Given the description of an element on the screen output the (x, y) to click on. 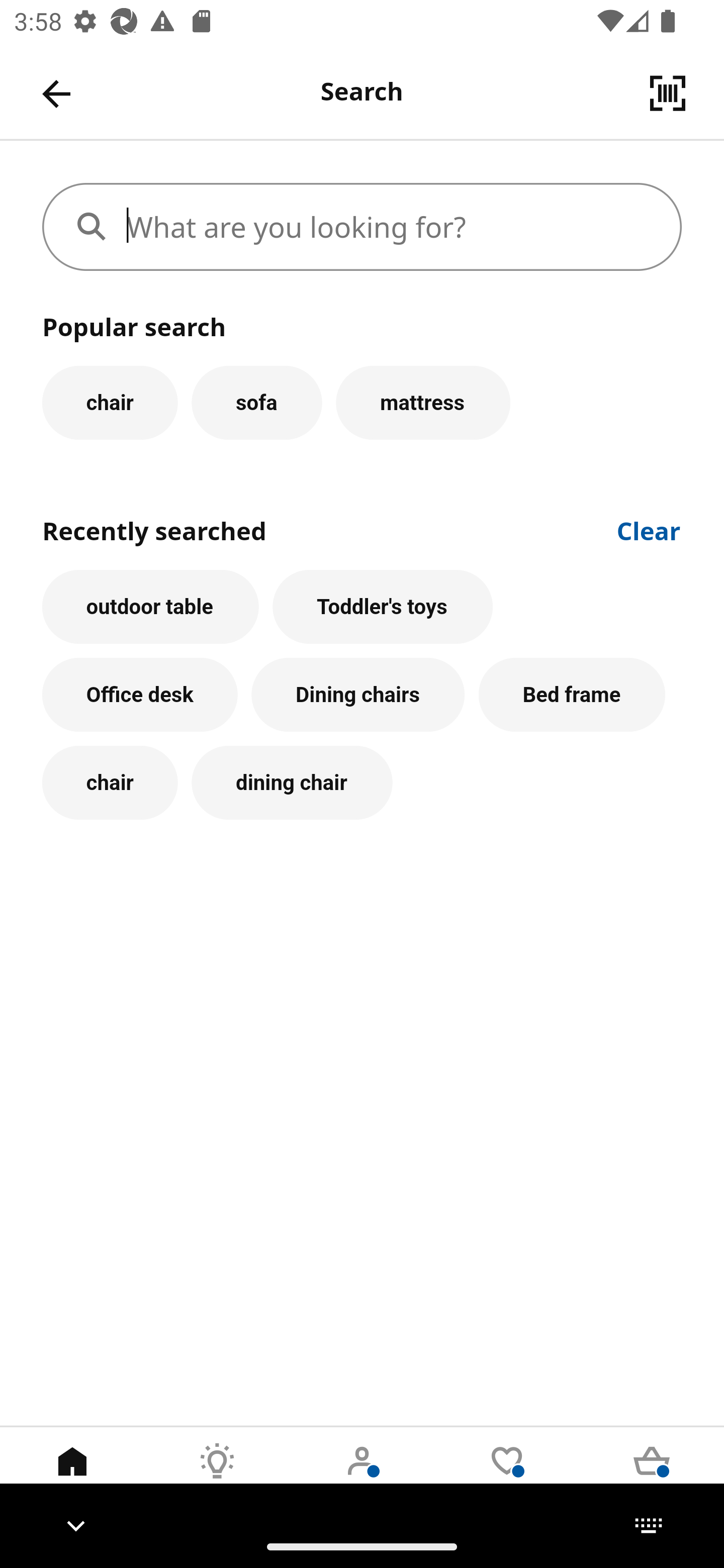
chair (109, 402)
sofa (256, 402)
mattress (423, 402)
Clear (649, 528)
outdoor table (150, 606)
Toddler's toys (382, 606)
Office desk (139, 695)
Dining chairs (357, 695)
Bed frame (571, 695)
chair (109, 783)
dining chair (291, 783)
Home
Tab 1 of 5 (72, 1476)
Inspirations
Tab 2 of 5 (216, 1476)
User
Tab 3 of 5 (361, 1476)
Wishlist
Tab 4 of 5 (506, 1476)
Cart
Tab 5 of 5 (651, 1476)
